Given the description of an element on the screen output the (x, y) to click on. 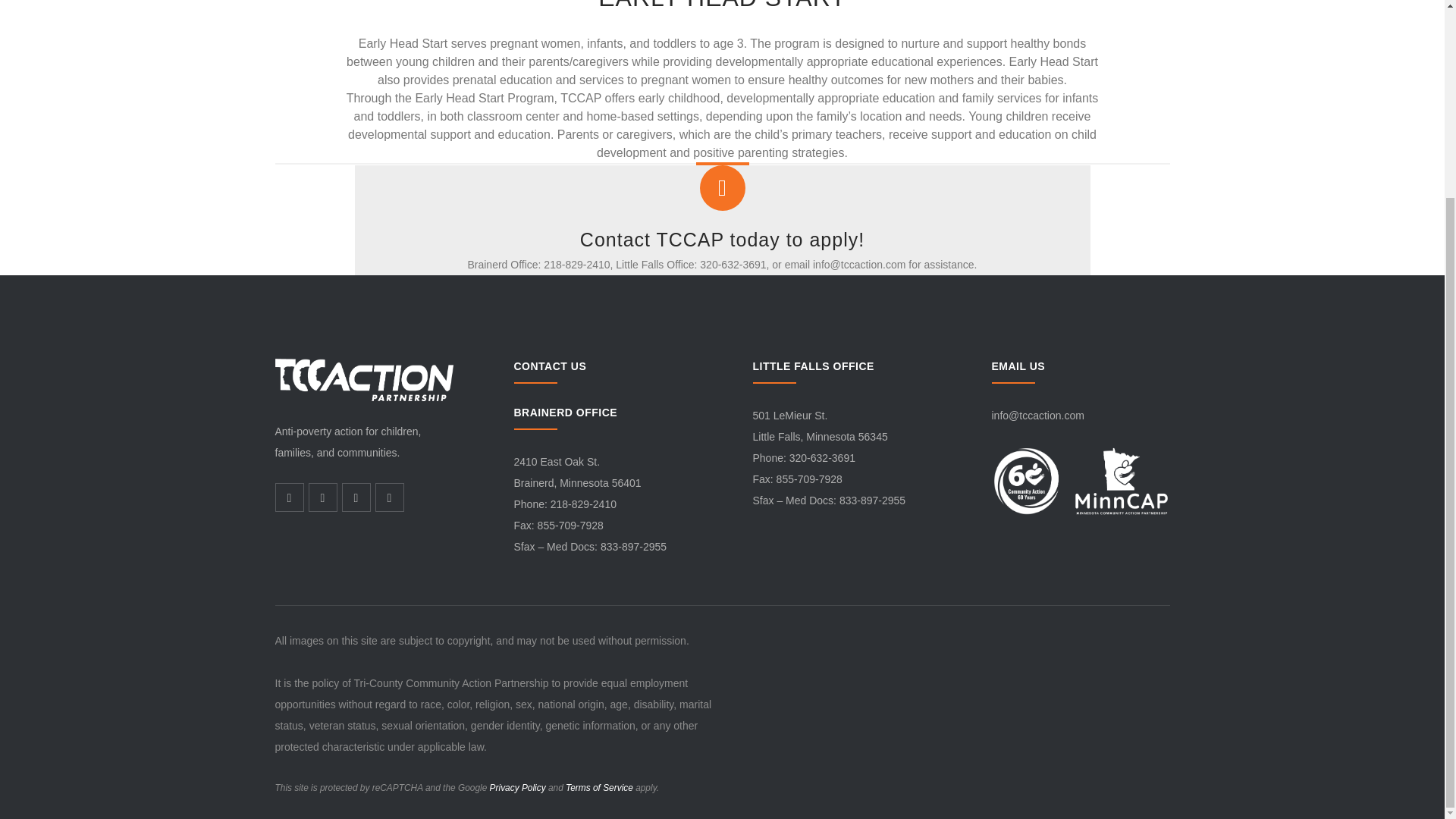
Terms of Service (599, 787)
Privacy Policy (517, 787)
Contact TCCAP today to apply! (721, 239)
